Given the description of an element on the screen output the (x, y) to click on. 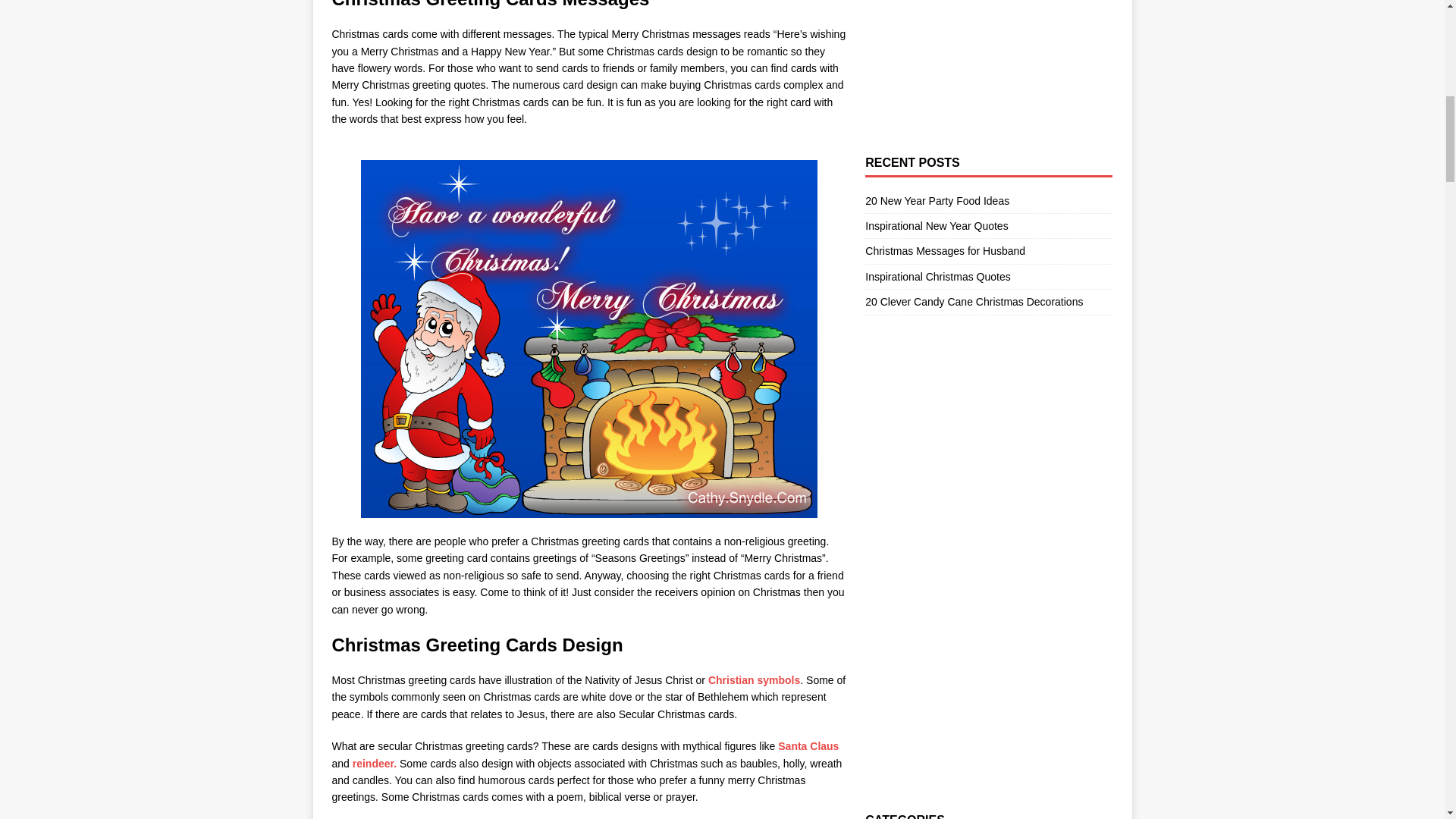
Santa Claus (807, 746)
20 New Year Party Food Ideas (936, 200)
reindeer. (374, 763)
Inspirational Christmas Quotes (937, 276)
Christian symbols (751, 680)
20 Clever Candy Cane Christmas Decorations (973, 301)
Advertisement (979, 46)
Inspirational New Year Quotes (935, 225)
Christmas Messages for Husband (944, 250)
